Given the description of an element on the screen output the (x, y) to click on. 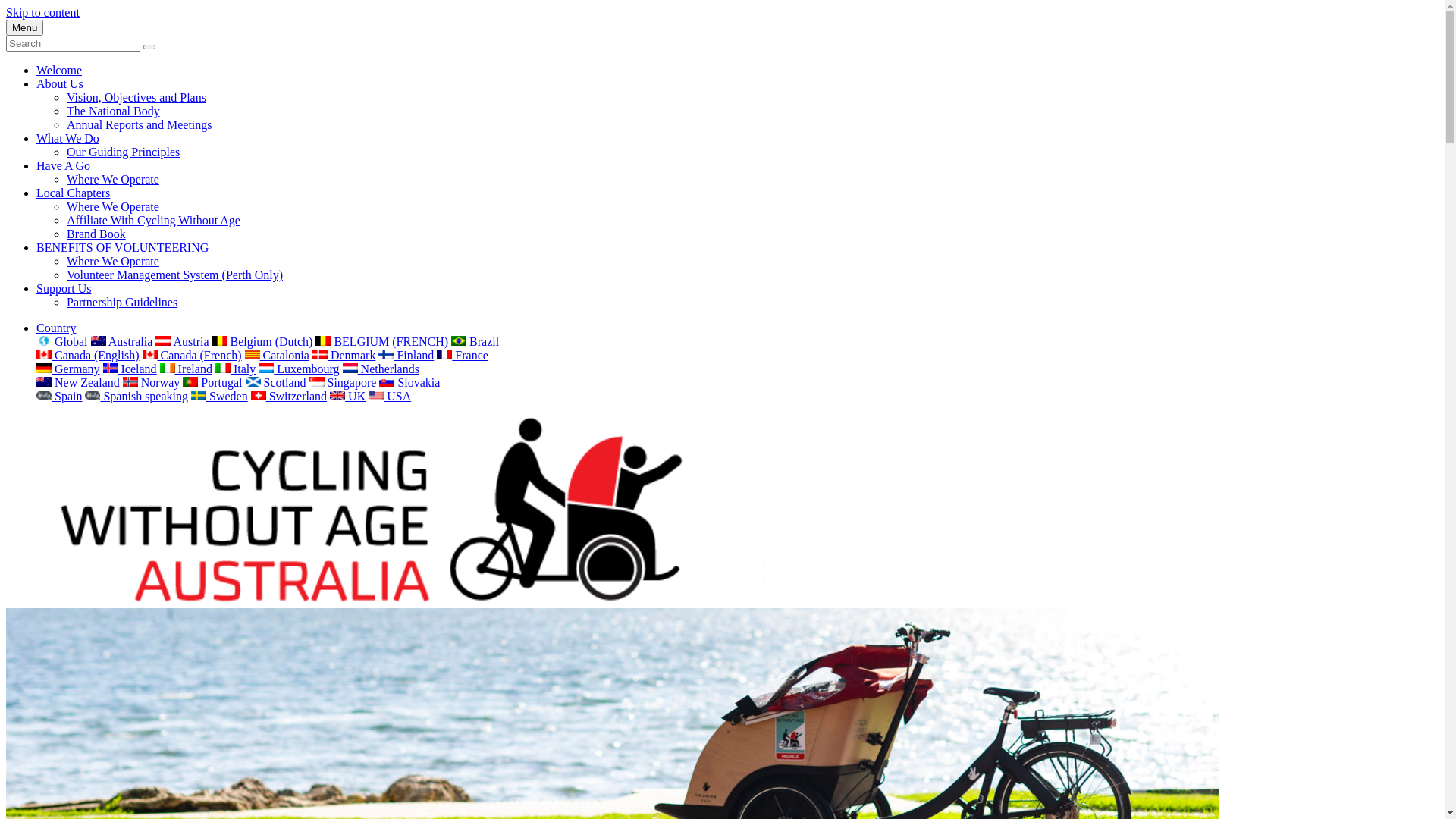
 Spain Element type: text (58, 395)
Where We Operate Element type: text (112, 260)
Vision, Objectives and Plans Element type: text (136, 97)
 France Element type: text (462, 354)
 New Zealand Element type: text (77, 382)
 Ireland Element type: text (186, 368)
 Global Element type: text (61, 341)
 Iceland Element type: text (129, 368)
 Canada (English) Element type: text (87, 354)
Menu Element type: text (24, 27)
 Netherlands Element type: text (380, 368)
 Australia Element type: text (122, 341)
Volunteer Management System (Perth Only) Element type: text (174, 274)
Where We Operate Element type: text (112, 206)
Country Element type: text (55, 327)
Welcome Element type: text (58, 69)
 Sweden Element type: text (219, 395)
Local Chapters Element type: text (72, 192)
Have A Go Element type: text (63, 165)
BENEFITS OF VOLUNTEERING Element type: text (122, 247)
 Germany Element type: text (68, 368)
 Scotland Element type: text (275, 382)
Affiliate With Cycling Without Age Element type: text (153, 219)
The National Body Element type: text (113, 110)
Skip to content Element type: text (42, 12)
Cycling
Without
Age Element type: text (385, 600)
 Denmark Element type: text (344, 354)
Annual Reports and Meetings Element type: text (139, 124)
 Austria Element type: text (181, 341)
 USA Element type: text (389, 395)
Support Us Element type: text (63, 288)
What We Do Element type: text (67, 137)
 Finland Element type: text (405, 354)
Partnership Guidelines Element type: text (121, 301)
 Luxembourg Element type: text (298, 368)
 Catalonia Element type: text (276, 354)
 Italy Element type: text (235, 368)
 Norway Element type: text (151, 382)
Brand Book Element type: text (95, 233)
 Singapore Element type: text (342, 382)
 Spanish speaking Element type: text (136, 395)
Where We Operate Element type: text (112, 178)
 Canada (French) Element type: text (191, 354)
About Us Element type: text (59, 83)
 Belgium (Dutch) Element type: text (262, 341)
 UK Element type: text (347, 395)
Our Guiding Principles Element type: text (122, 151)
 Slovakia Element type: text (409, 382)
 Switzerland Element type: text (288, 395)
 BELGIUM (FRENCH) Element type: text (381, 341)
 Brazil Element type: text (474, 341)
 Portugal Element type: text (211, 382)
